Given the description of an element on the screen output the (x, y) to click on. 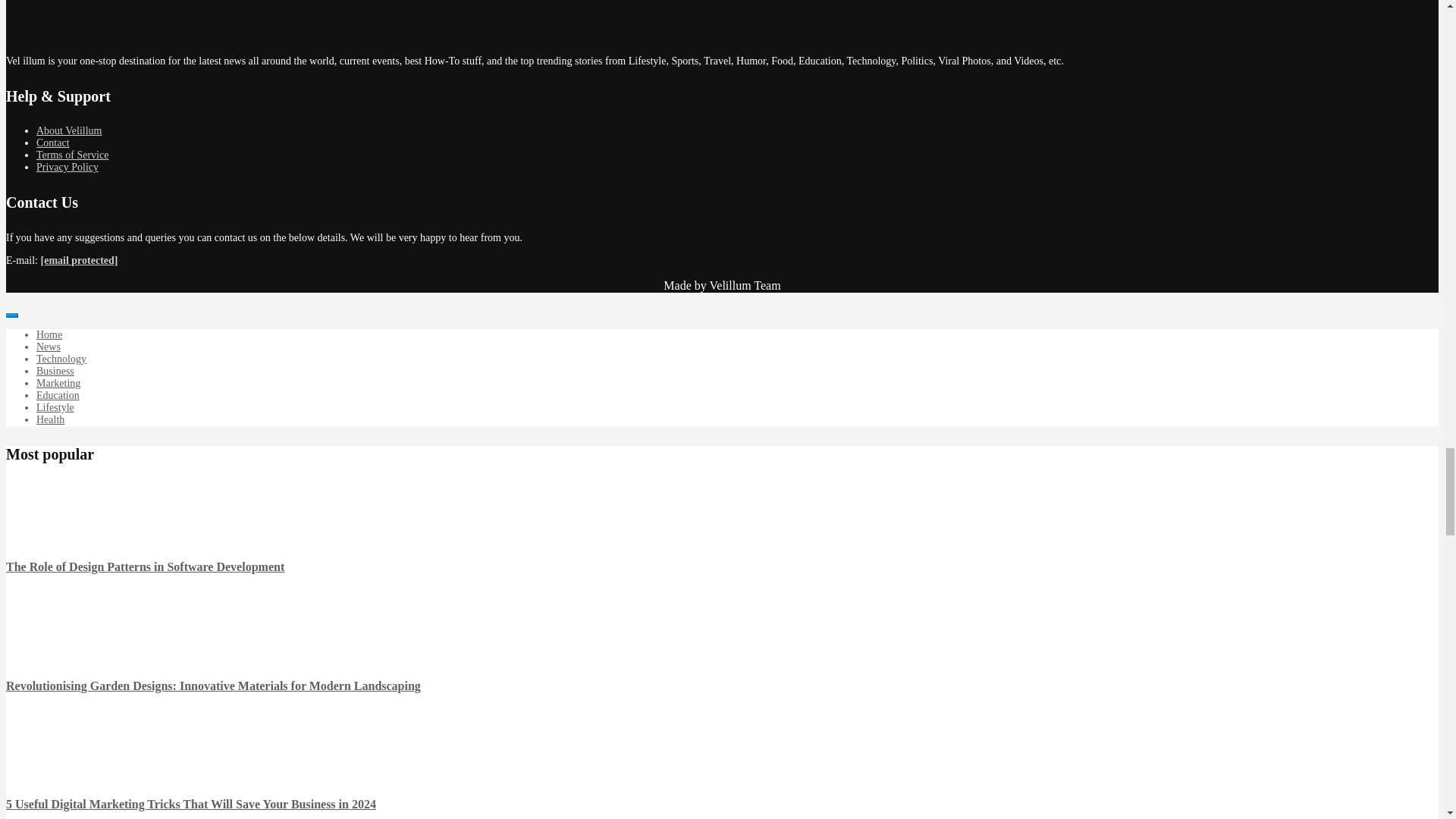
The Role of Design Patterns in Software Development (35, 525)
